Given the description of an element on the screen output the (x, y) to click on. 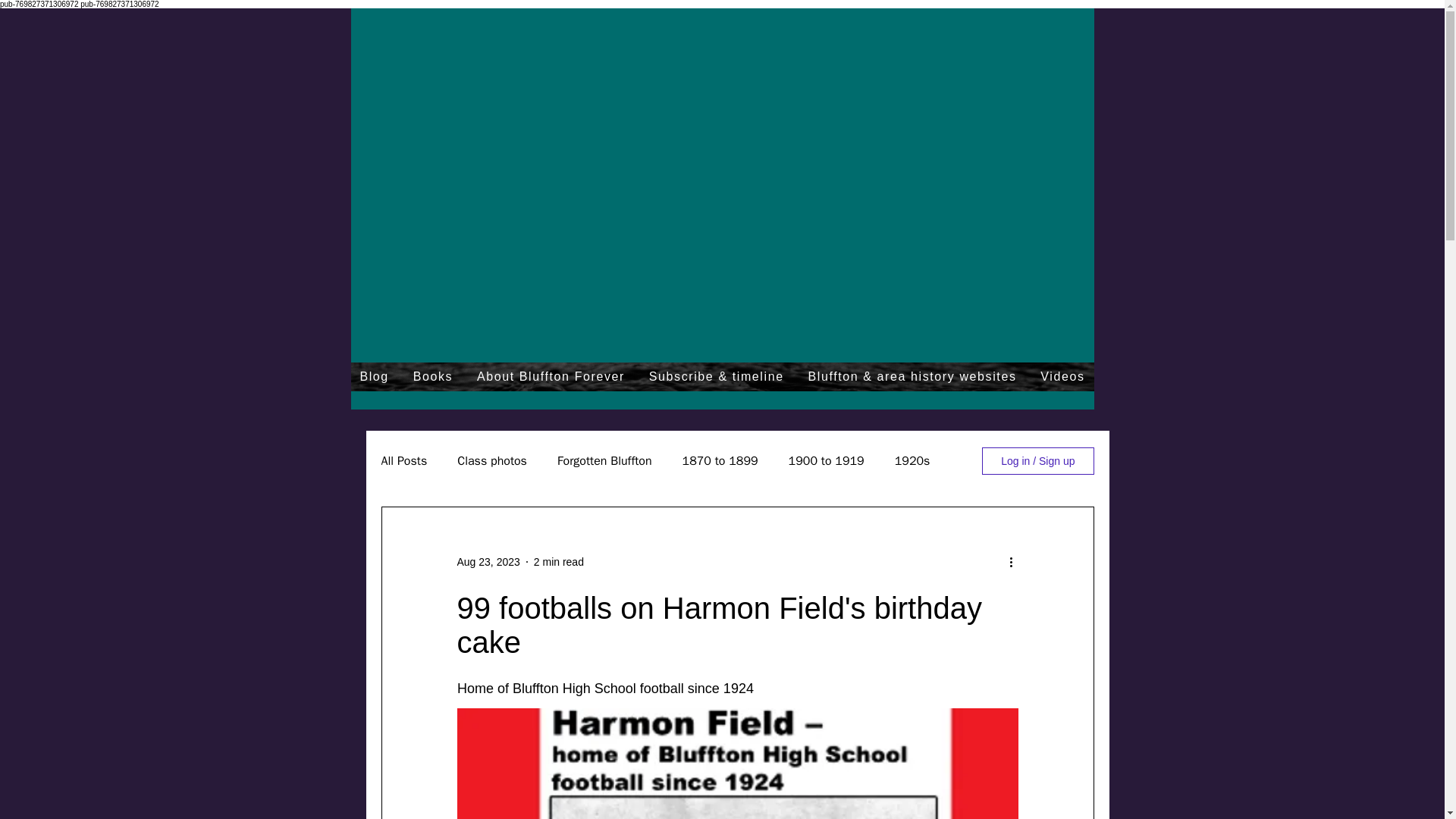
2 min read (558, 561)
About Bluffton Forever (550, 376)
1870 to 1899 (720, 461)
1920s (912, 461)
Class photos (492, 461)
All Posts (403, 461)
Blog (373, 376)
Videos (1061, 376)
1900 to 1919 (826, 461)
Forgotten Bluffton (604, 461)
Aug 23, 2023 (488, 561)
Books (432, 376)
